Given the description of an element on the screen output the (x, y) to click on. 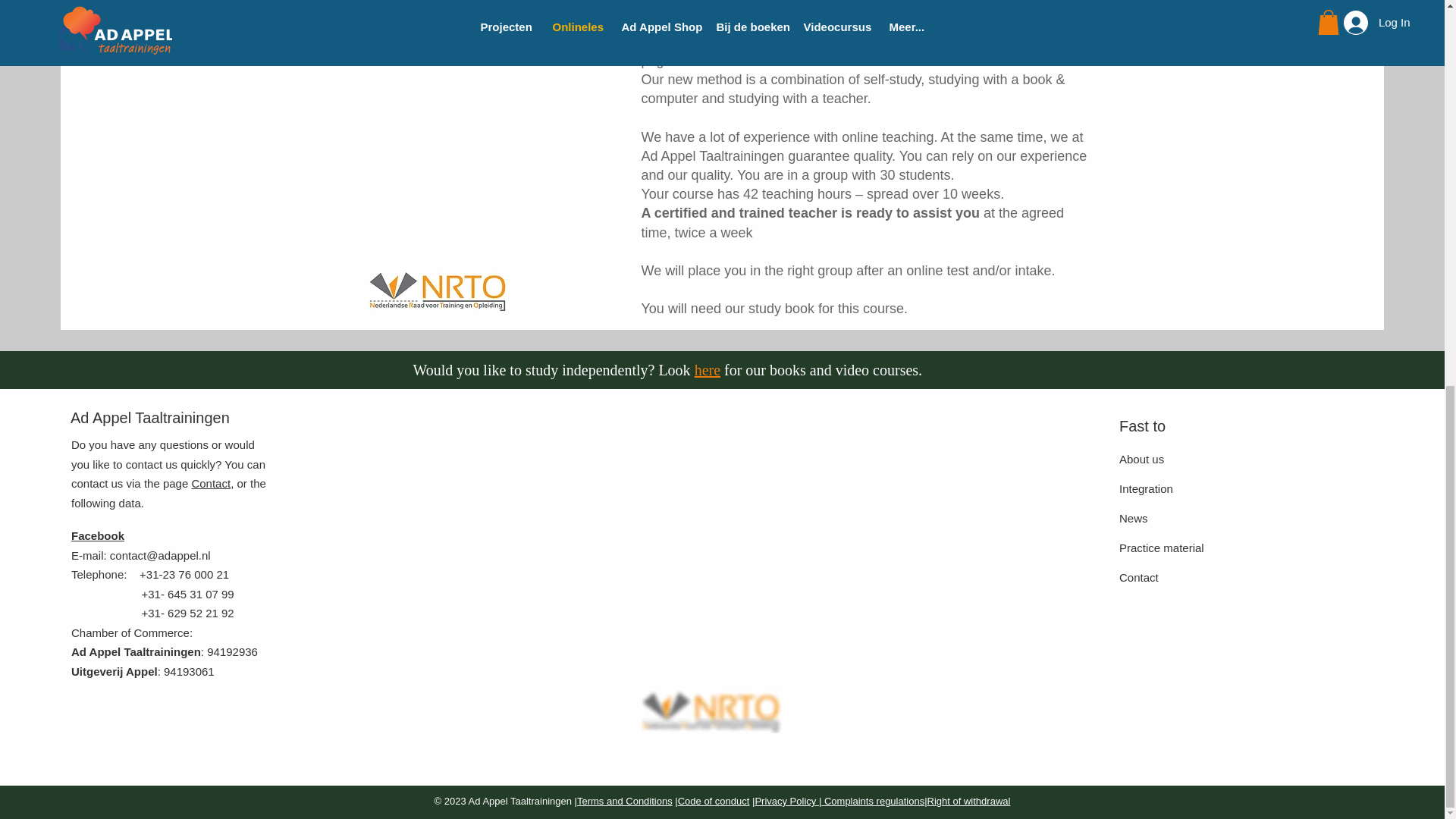
Contact (1138, 576)
Code of conduct (713, 800)
About us (1141, 459)
Privacy Policy (786, 800)
News (1133, 517)
Contact (210, 482)
Terms and Conditions (624, 800)
here (707, 369)
Practice material (1161, 547)
Integration (1146, 488)
